Given the description of an element on the screen output the (x, y) to click on. 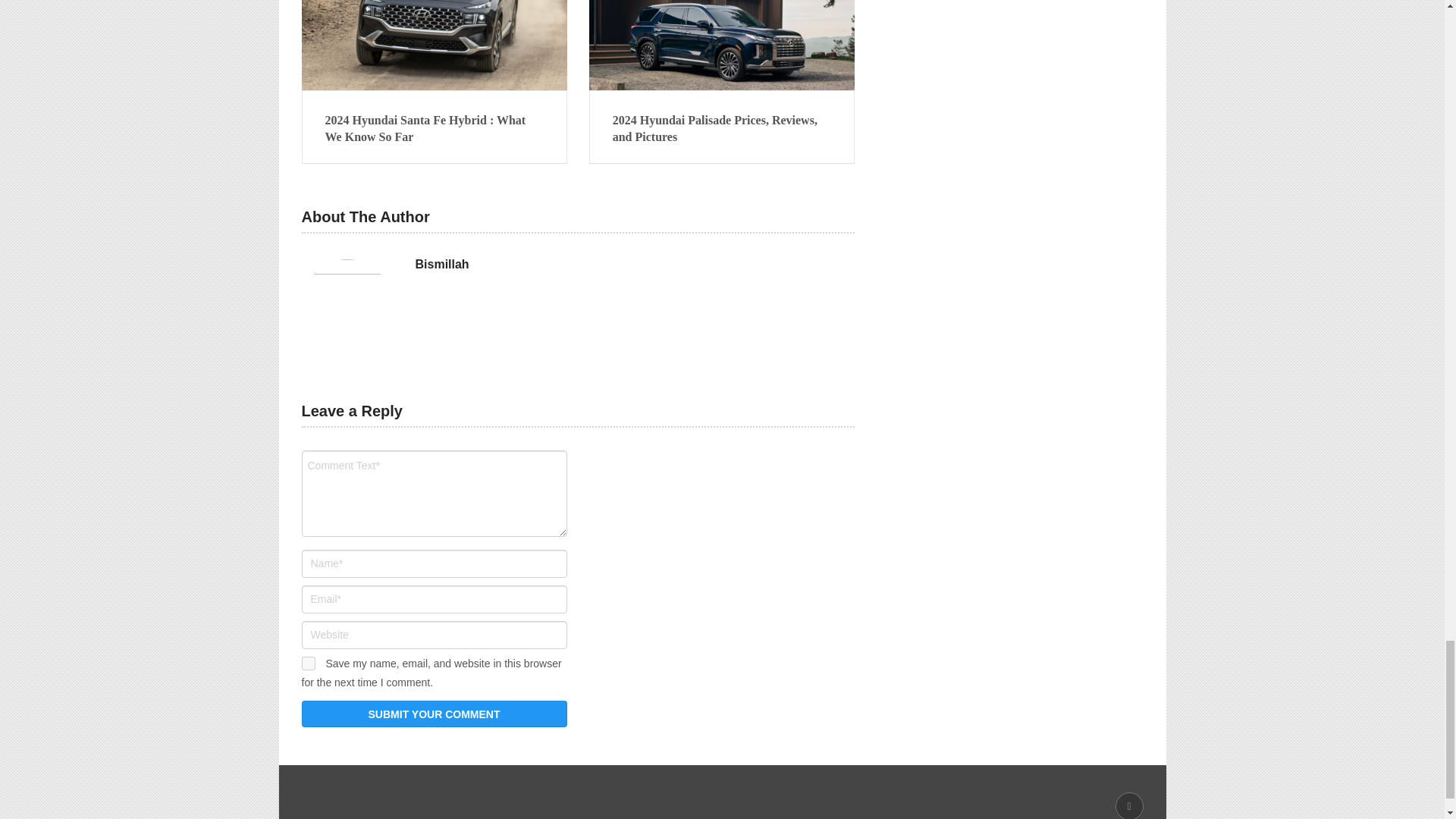
yes (308, 663)
Submit Your Comment (434, 714)
2024 Hyundai Santa Fe Hybrid : What We Know So Far (433, 129)
2024 Hyundai Palisade Prices, Reviews, and Pictures (721, 129)
2024 Hyundai Palisade Prices, Reviews, and Pictures (721, 45)
2024 Hyundai Santa Fe Hybrid : What We Know So Far (434, 45)
